Given the description of an element on the screen output the (x, y) to click on. 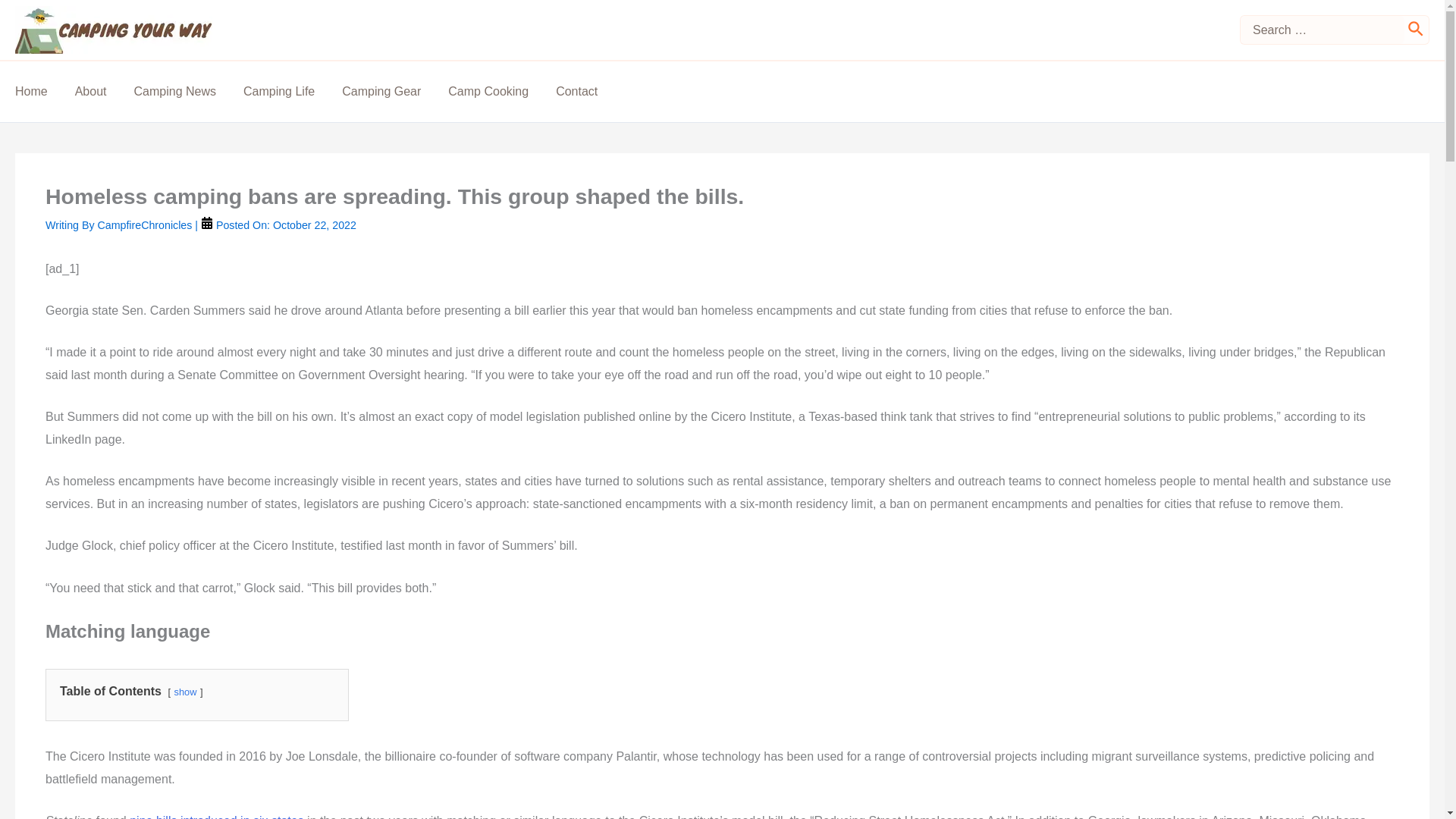
CampfireChronicles (146, 224)
Home (44, 91)
About (104, 91)
View all posts by CampfireChronicles (146, 224)
Camping News (188, 91)
Camp Cooking (502, 91)
Contact (590, 91)
Camping Gear (395, 91)
nine bills introduced in six states (215, 816)
Camping Life (292, 91)
